Given the description of an element on the screen output the (x, y) to click on. 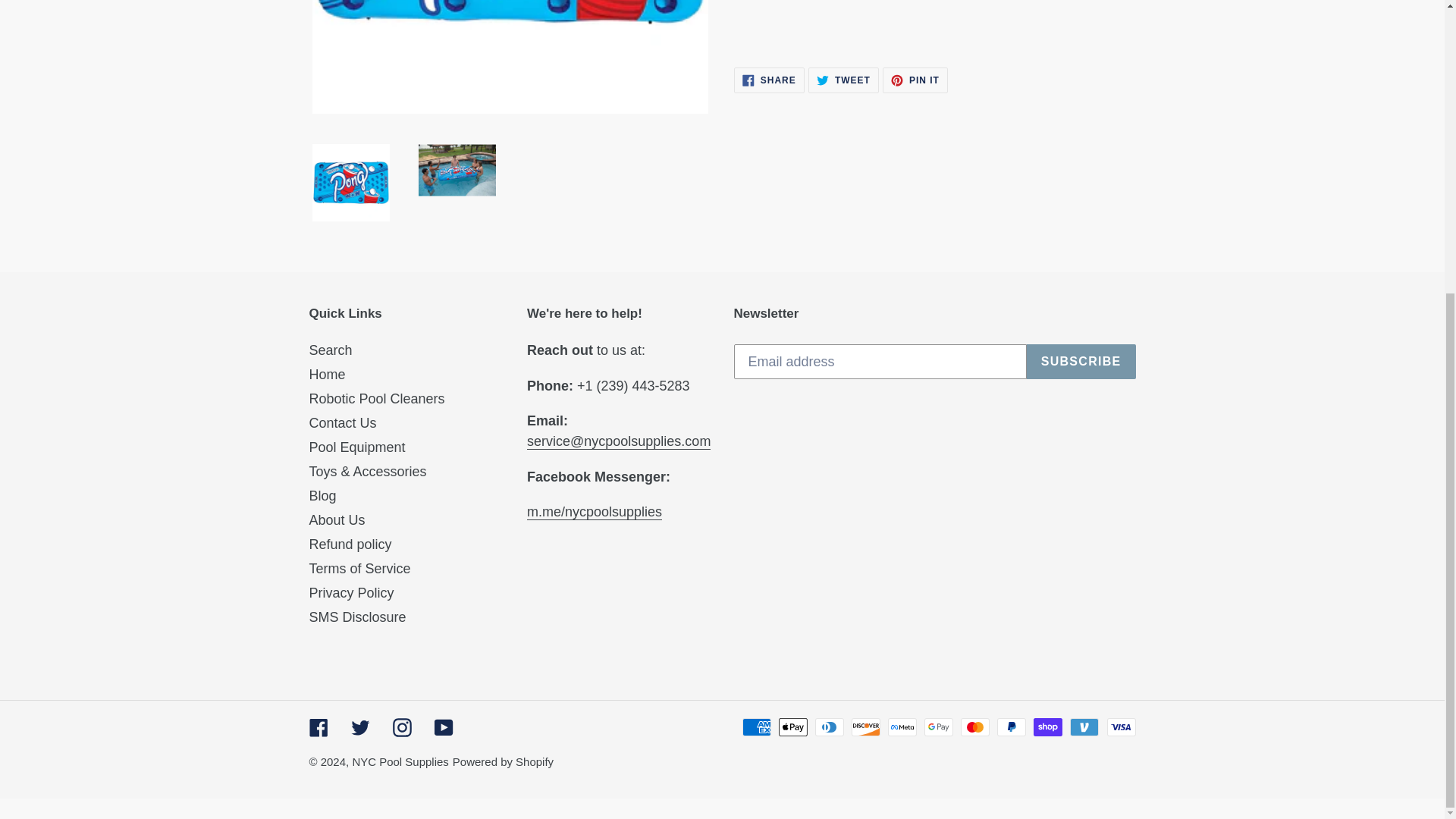
NYC Pool Supplies Facebook Messenger Link (914, 80)
NYC Pool Supplies Service Email Link (769, 80)
